Given the description of an element on the screen output the (x, y) to click on. 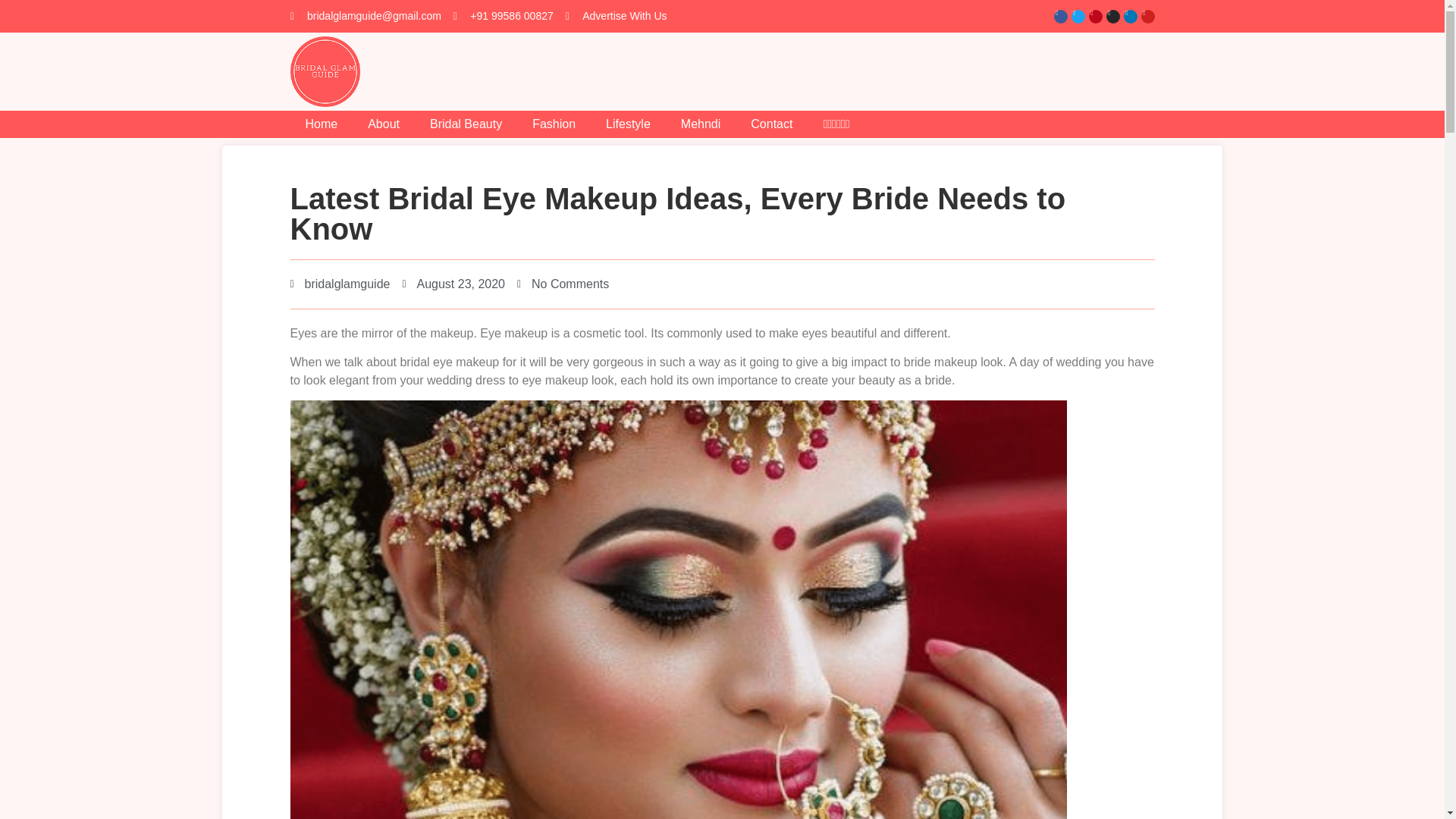
About (383, 124)
Lifestyle (628, 124)
Bridal Beauty (465, 124)
Advertise With Us (616, 16)
Contact (771, 124)
Home (320, 124)
Mehndi (700, 124)
Fashion (553, 124)
